Given the description of an element on the screen output the (x, y) to click on. 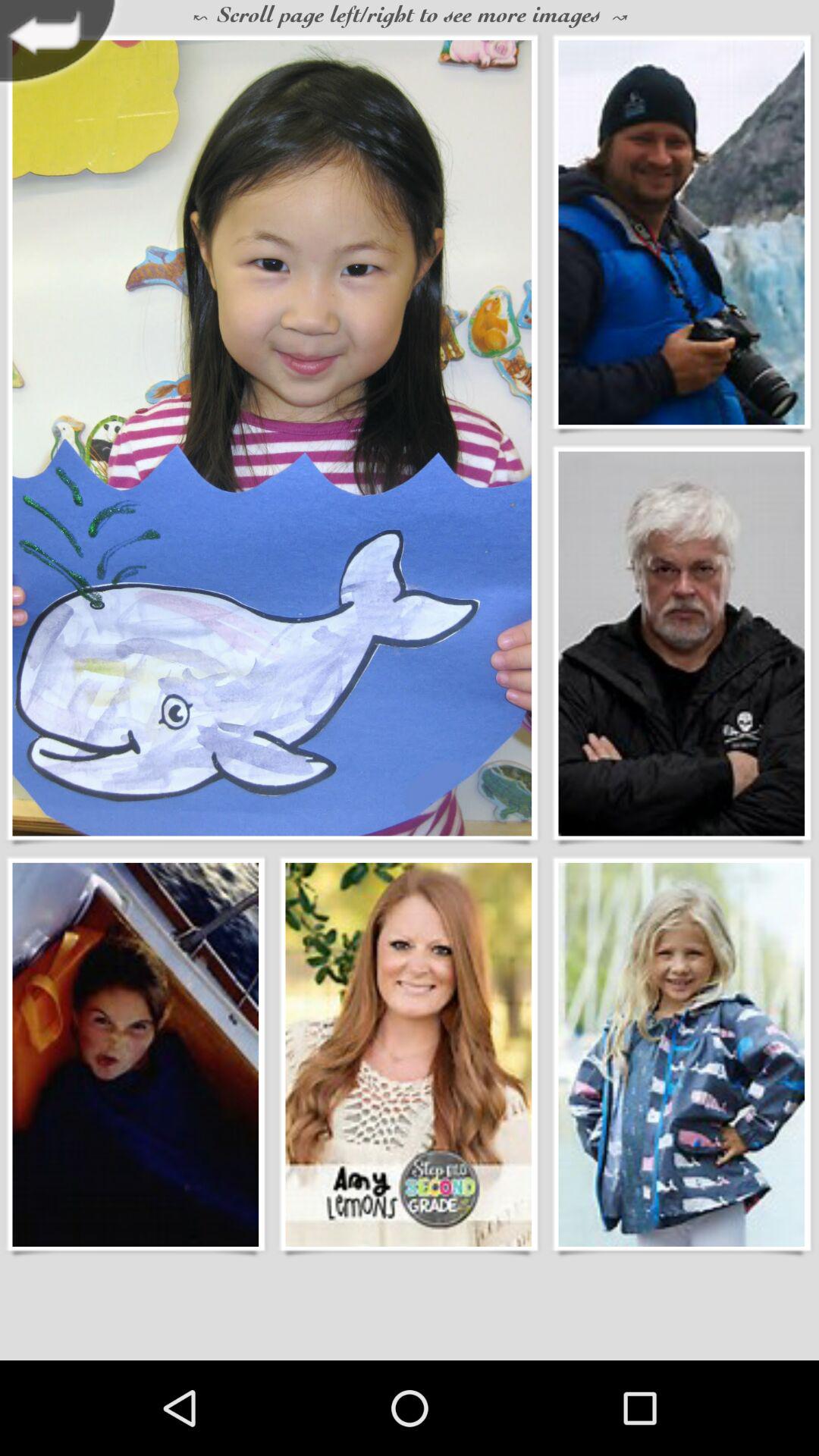
view image (408, 1054)
